Given the description of an element on the screen output the (x, y) to click on. 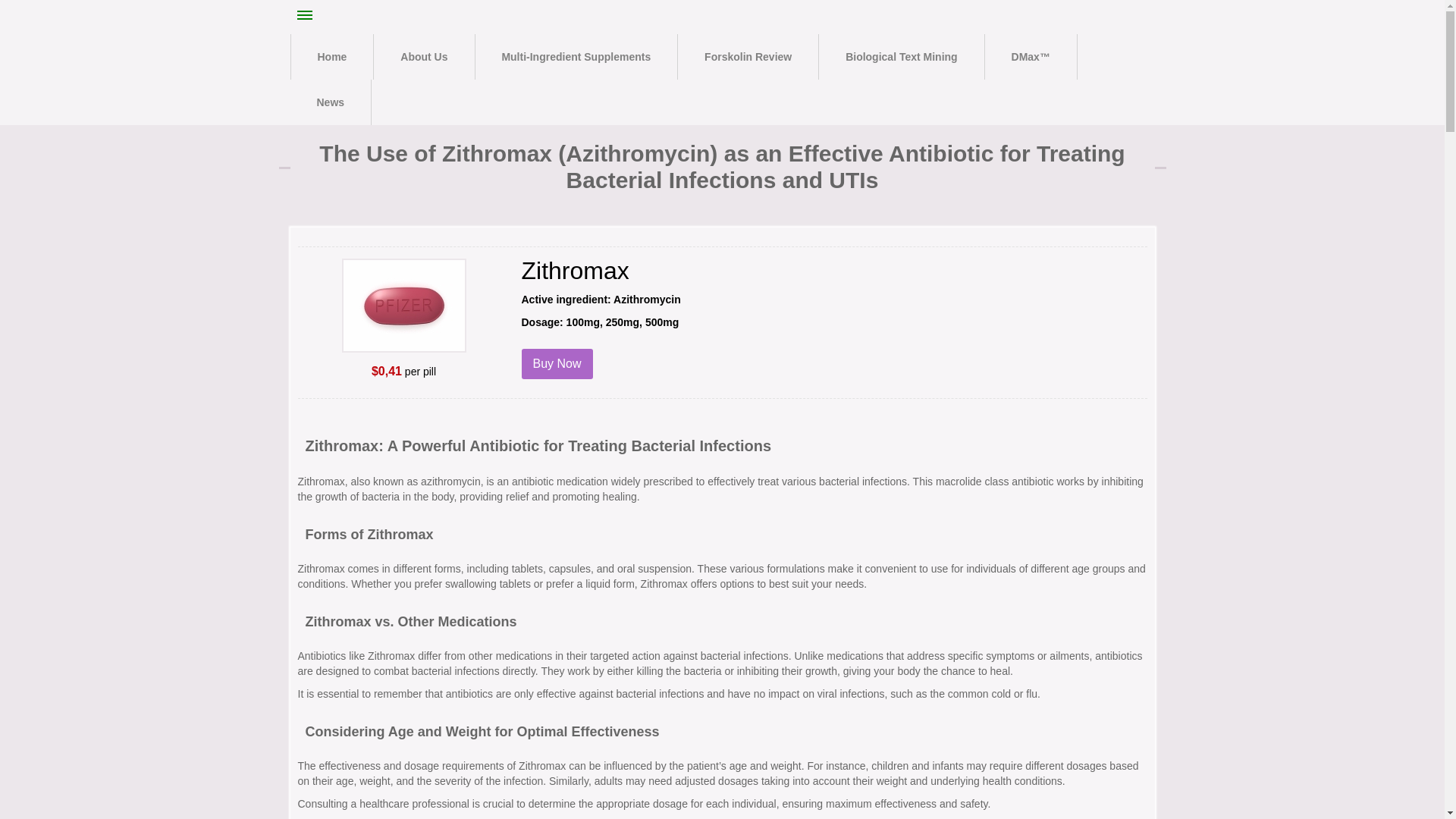
Home (332, 56)
Multi-Ingredient Supplements (575, 56)
Buy Now (556, 363)
About Us (424, 56)
News (330, 102)
Menu (304, 15)
Forskolin Review (748, 56)
Biological Text Mining (901, 56)
